Given the description of an element on the screen output the (x, y) to click on. 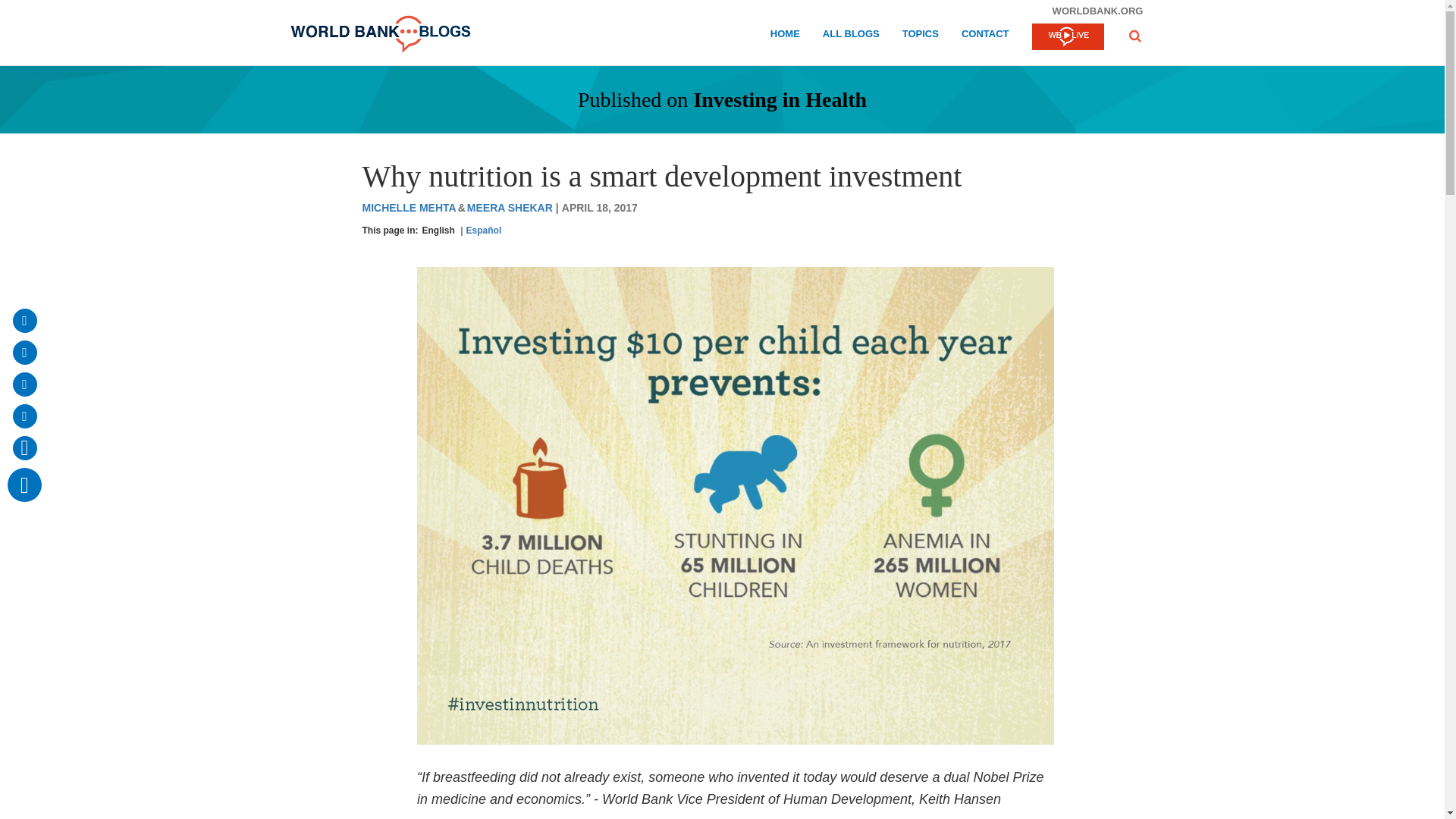
WB Live Logo (1066, 36)
CONTACT (984, 37)
MICHELLE MEHTA (408, 207)
WORLDBANK.ORG (1097, 10)
whatsup (23, 447)
World Bank Blogs Logo (379, 34)
Facebook (23, 352)
Email (23, 320)
WB LIVE LOGO (1066, 37)
Tweet (23, 384)
